Given the description of an element on the screen output the (x, y) to click on. 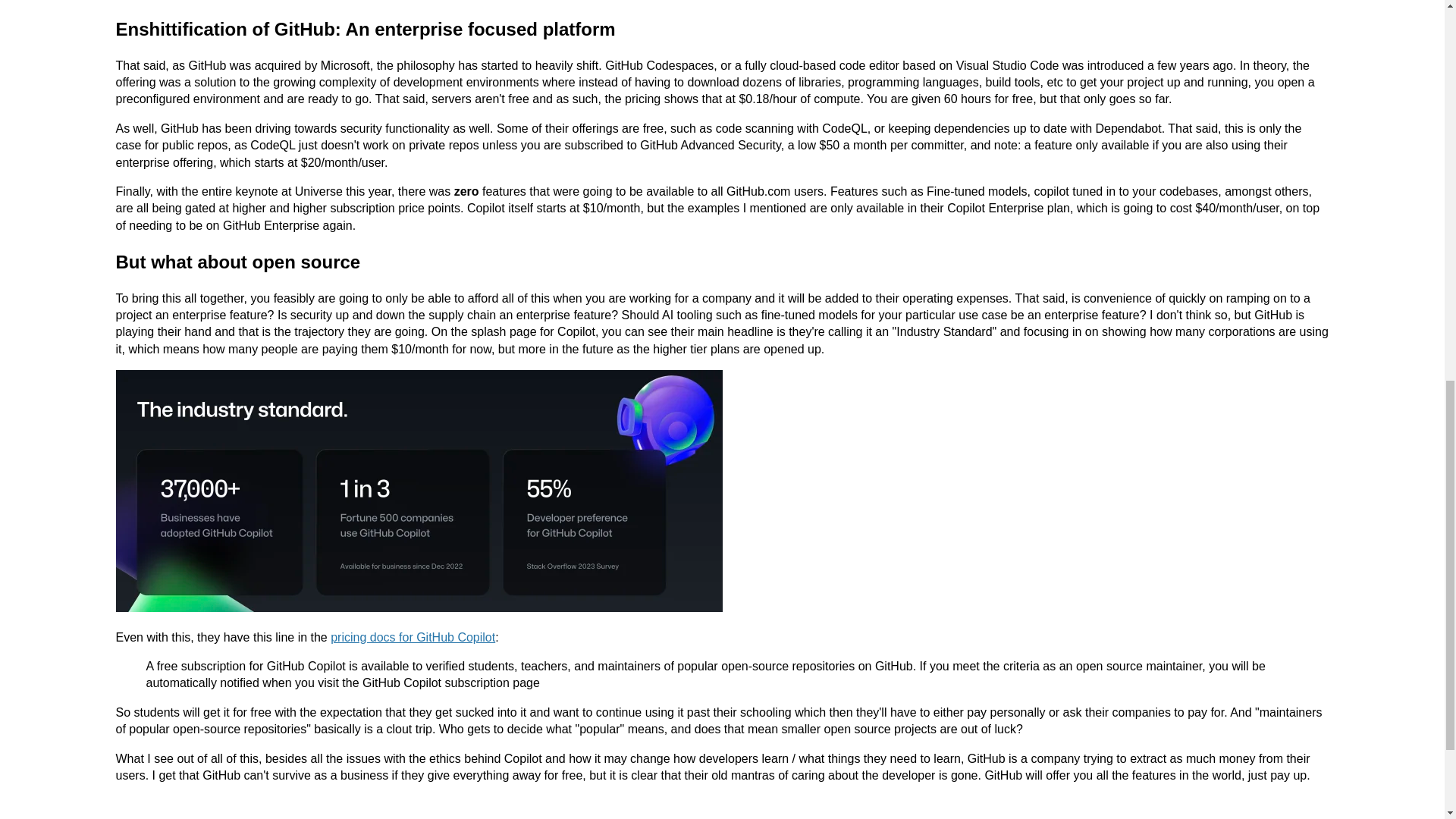
pricing docs for GitHub Copilot (412, 636)
